Given the description of an element on the screen output the (x, y) to click on. 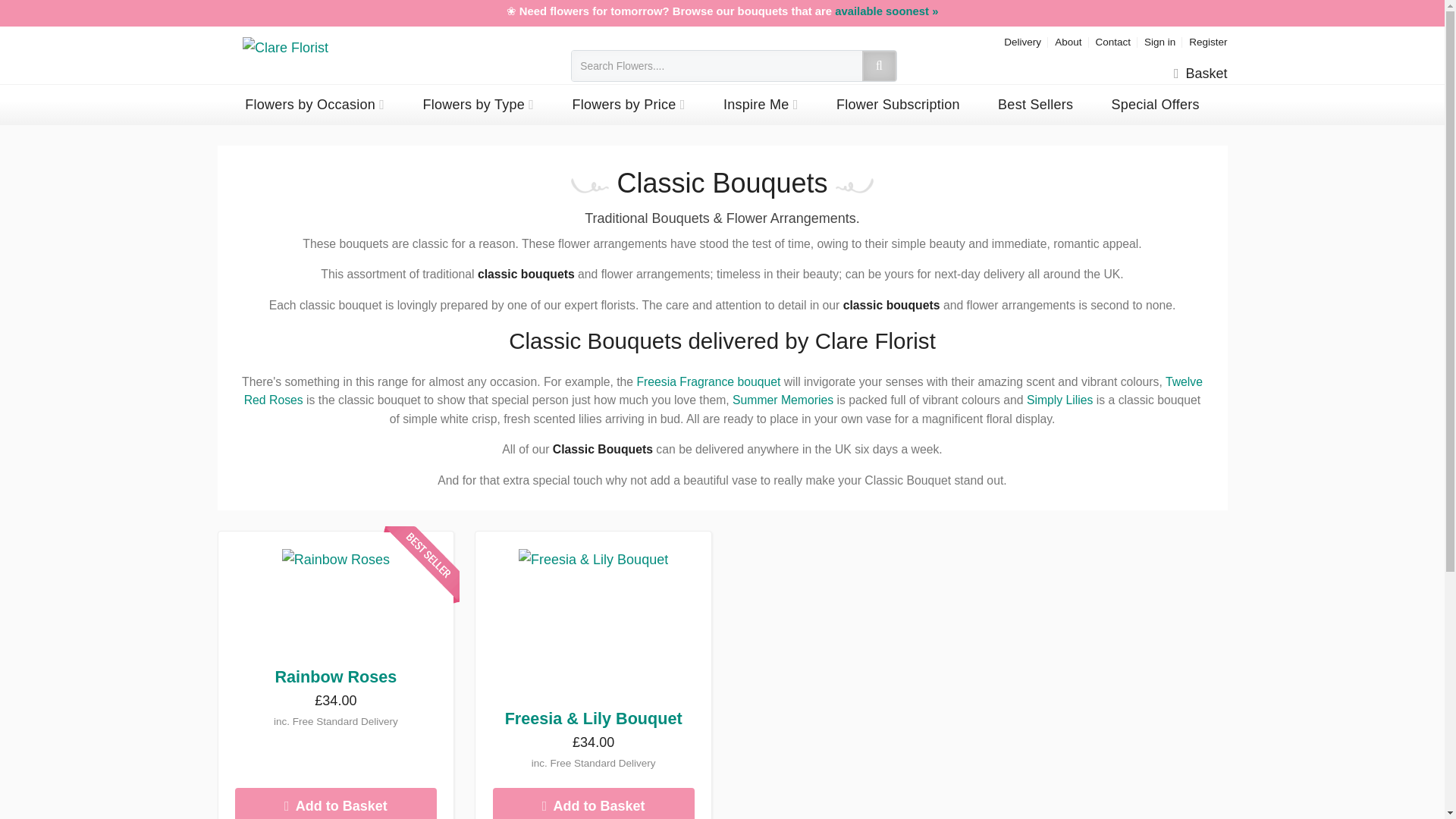
About (1067, 41)
Sign in (1159, 41)
Flowers by Occasion (314, 105)
Contact (1112, 41)
Simply Lilies (1059, 399)
Delivery (1022, 41)
Register (1208, 41)
Flowers by Type (478, 105)
Twelve Red Roses (723, 391)
Basket (1200, 73)
